Given the description of an element on the screen output the (x, y) to click on. 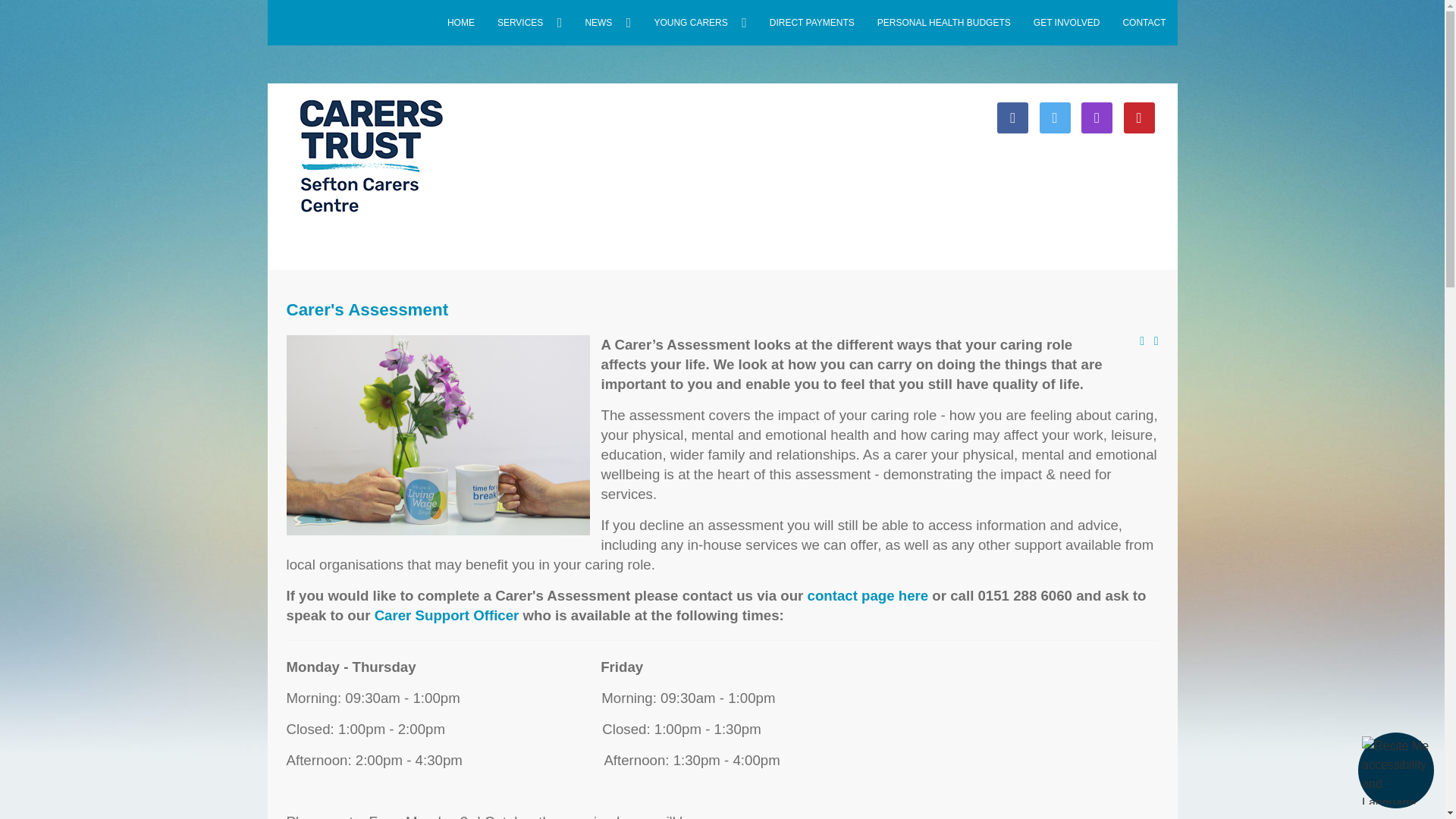
Launch Recite Me (1395, 770)
HOME (460, 22)
SERVICES (529, 22)
DIRECT PAYMENTS (812, 22)
GET INVOLVED (1067, 22)
PERSONAL HEALTH BUDGETS (944, 22)
CONTACT (1143, 22)
NEWS (607, 22)
YOUNG CARERS (699, 22)
Launch Recite Me (1396, 770)
